Given the description of an element on the screen output the (x, y) to click on. 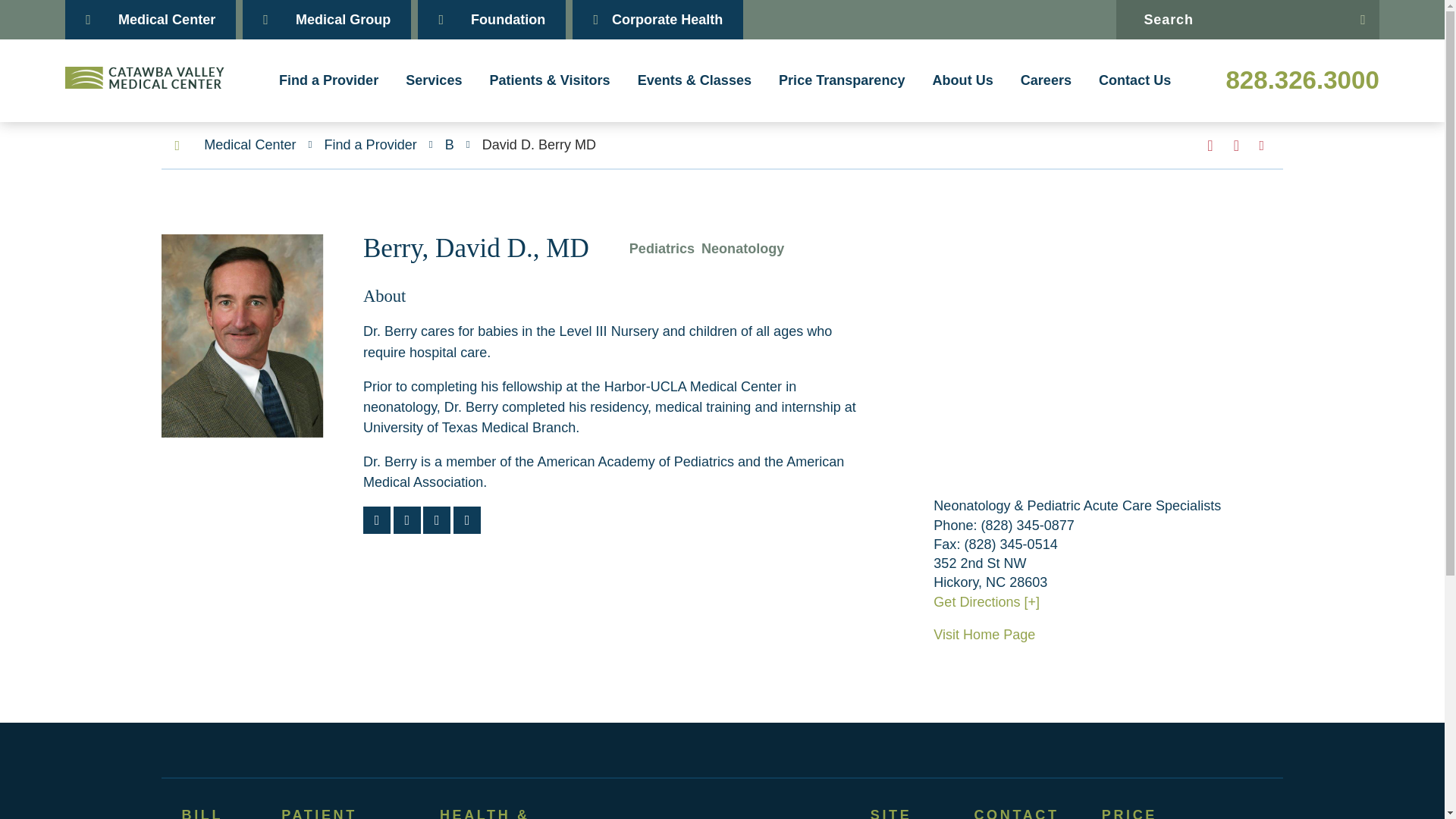
Catawba Valley Medical Center (144, 77)
Medical Center (150, 19)
Refer a Friend (1235, 145)
Printer-Friendly Page (1261, 145)
Services (433, 79)
Foundation (491, 19)
About Us (962, 79)
Careers (1045, 79)
Contact Us (1134, 79)
Medical Group (326, 19)
